Given the description of an element on the screen output the (x, y) to click on. 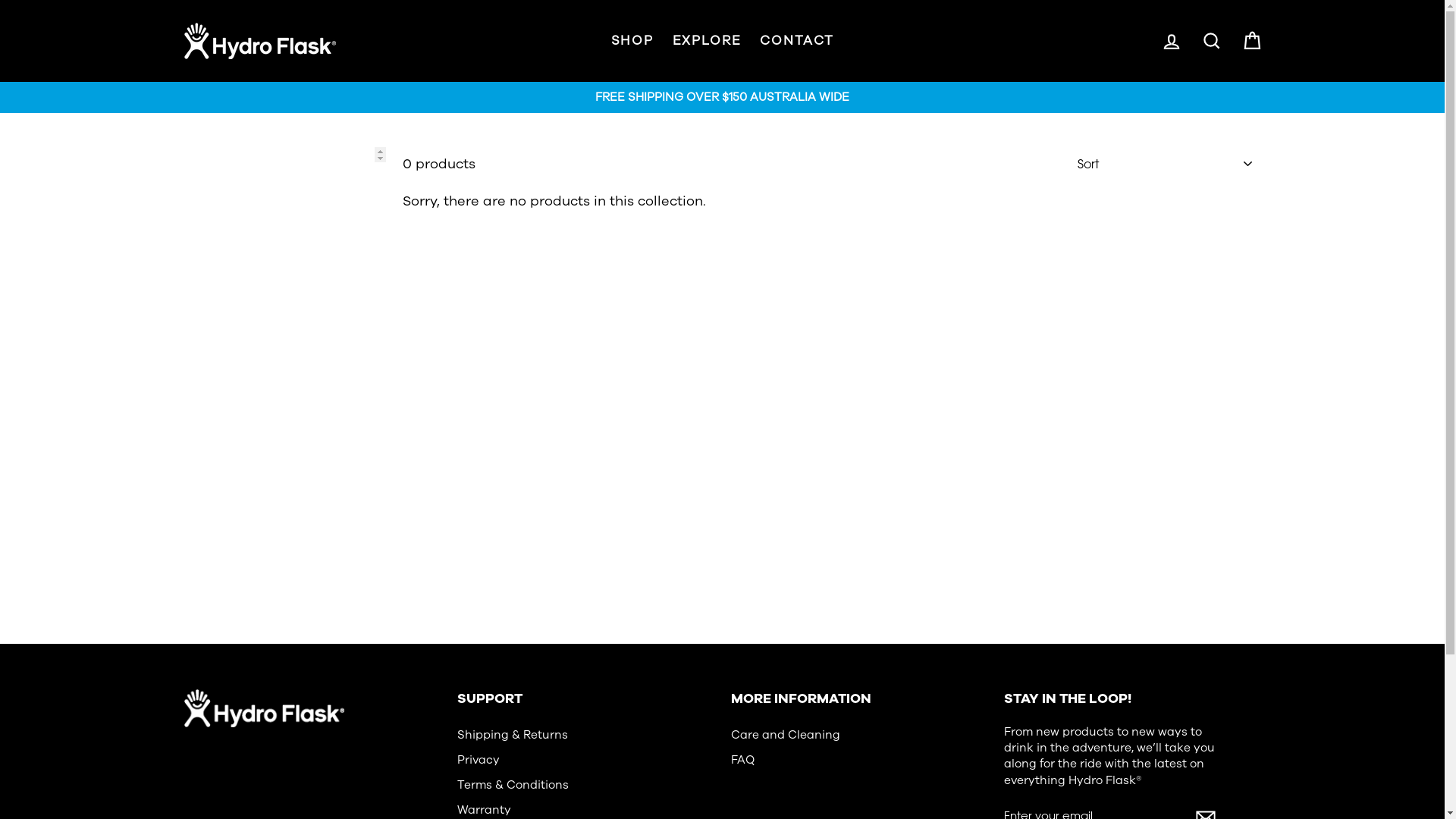
Shipping & Returns Element type: text (512, 735)
Terms & Conditions Element type: text (512, 785)
SEARCH Element type: text (1211, 40)
Care and Cleaning Element type: text (785, 735)
CART Element type: text (1251, 40)
SHOP Element type: text (632, 40)
LOG IN Element type: text (1170, 40)
EXPLORE Element type: text (706, 40)
FAQ Element type: text (742, 760)
CONTACT Element type: text (796, 40)
Privacy Element type: text (478, 760)
Skip to content Element type: text (0, 0)
